Given the description of an element on the screen output the (x, y) to click on. 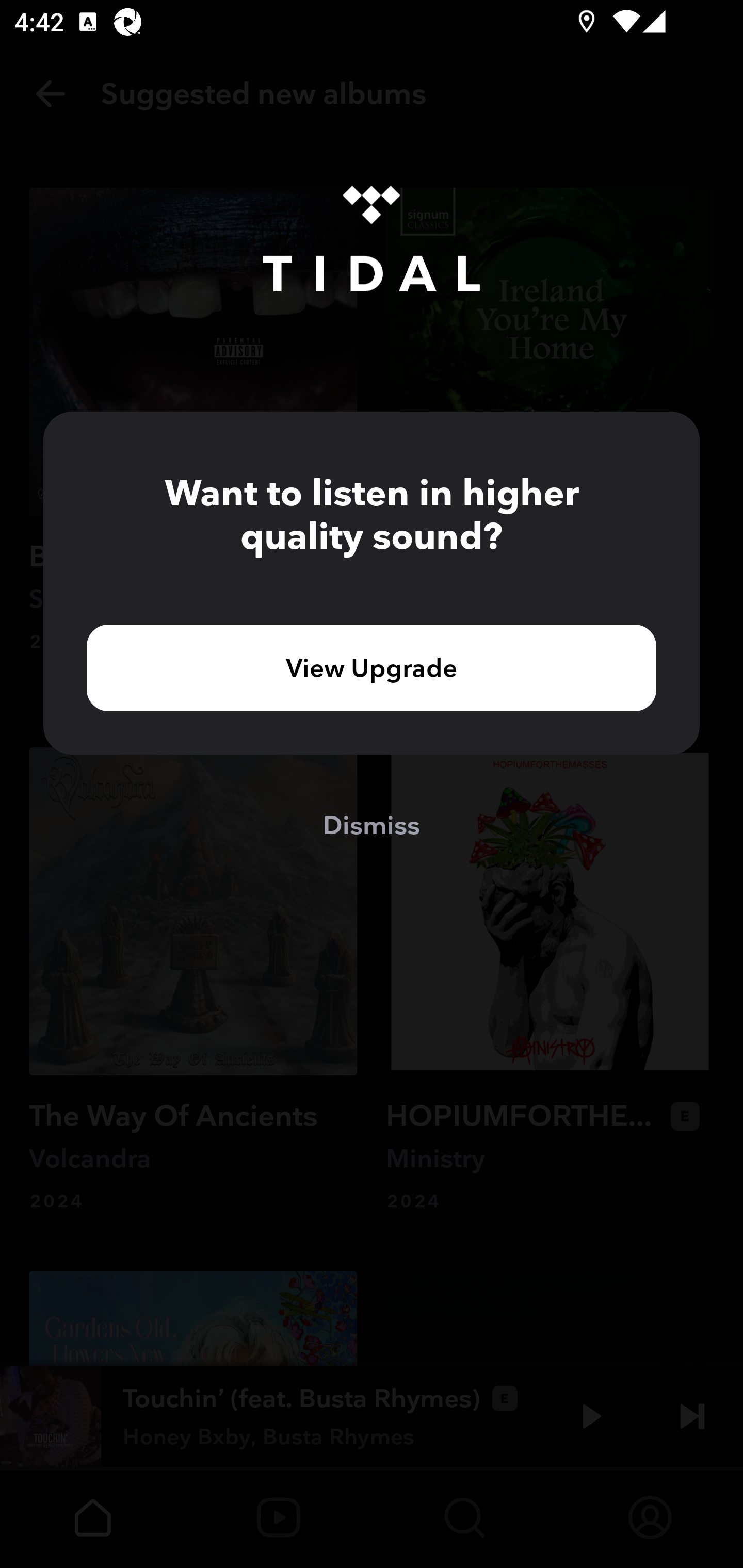
View Upgrade (371, 667)
Dismiss (371, 824)
